Given the description of an element on the screen output the (x, y) to click on. 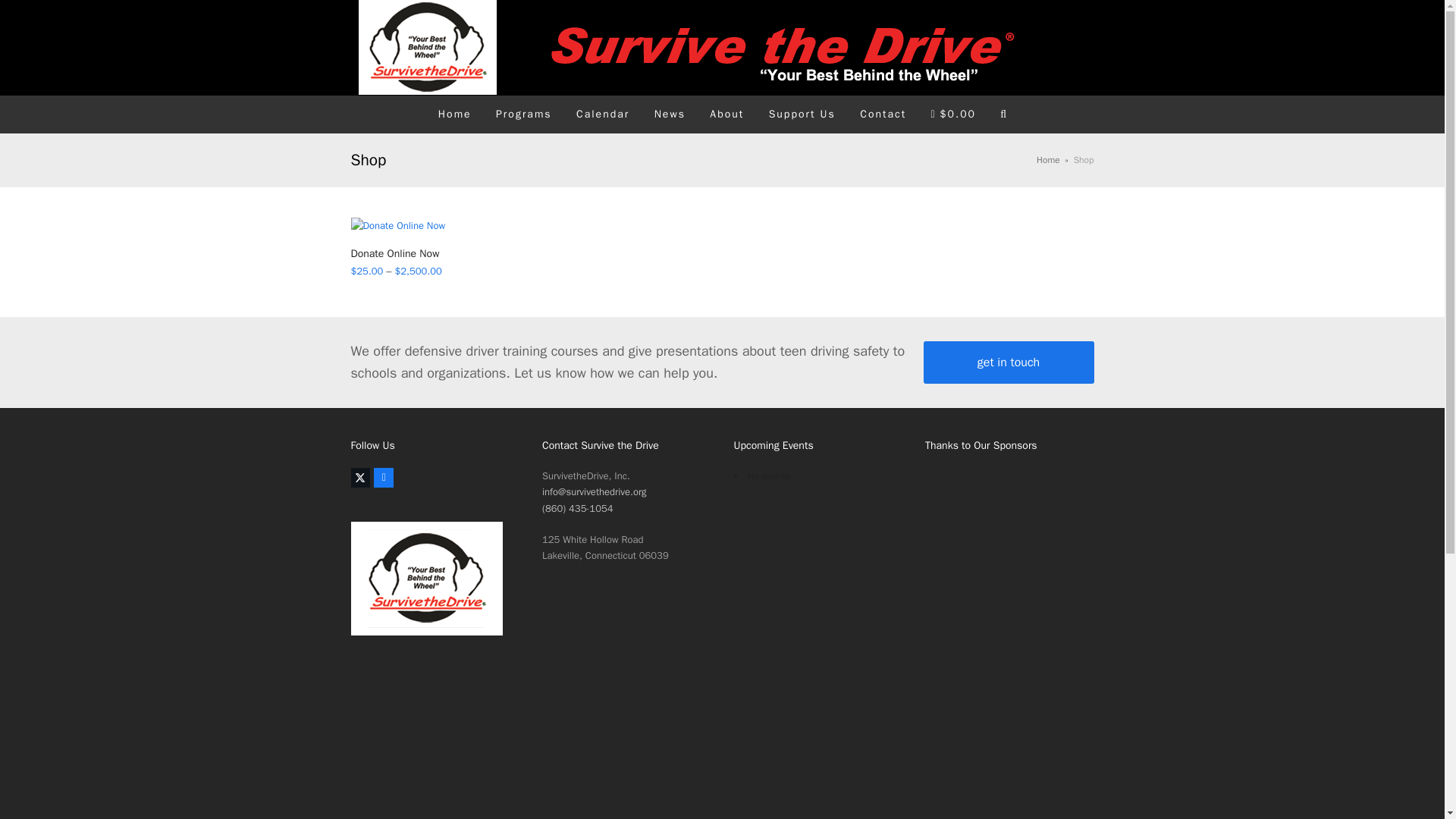
Donate Online Now (437, 253)
Home (1047, 159)
get in touch (1008, 362)
Calendar (603, 114)
Facebook (383, 477)
Support Us (801, 114)
Contact (882, 114)
News (669, 114)
Programs (523, 114)
About (726, 114)
